Given the description of an element on the screen output the (x, y) to click on. 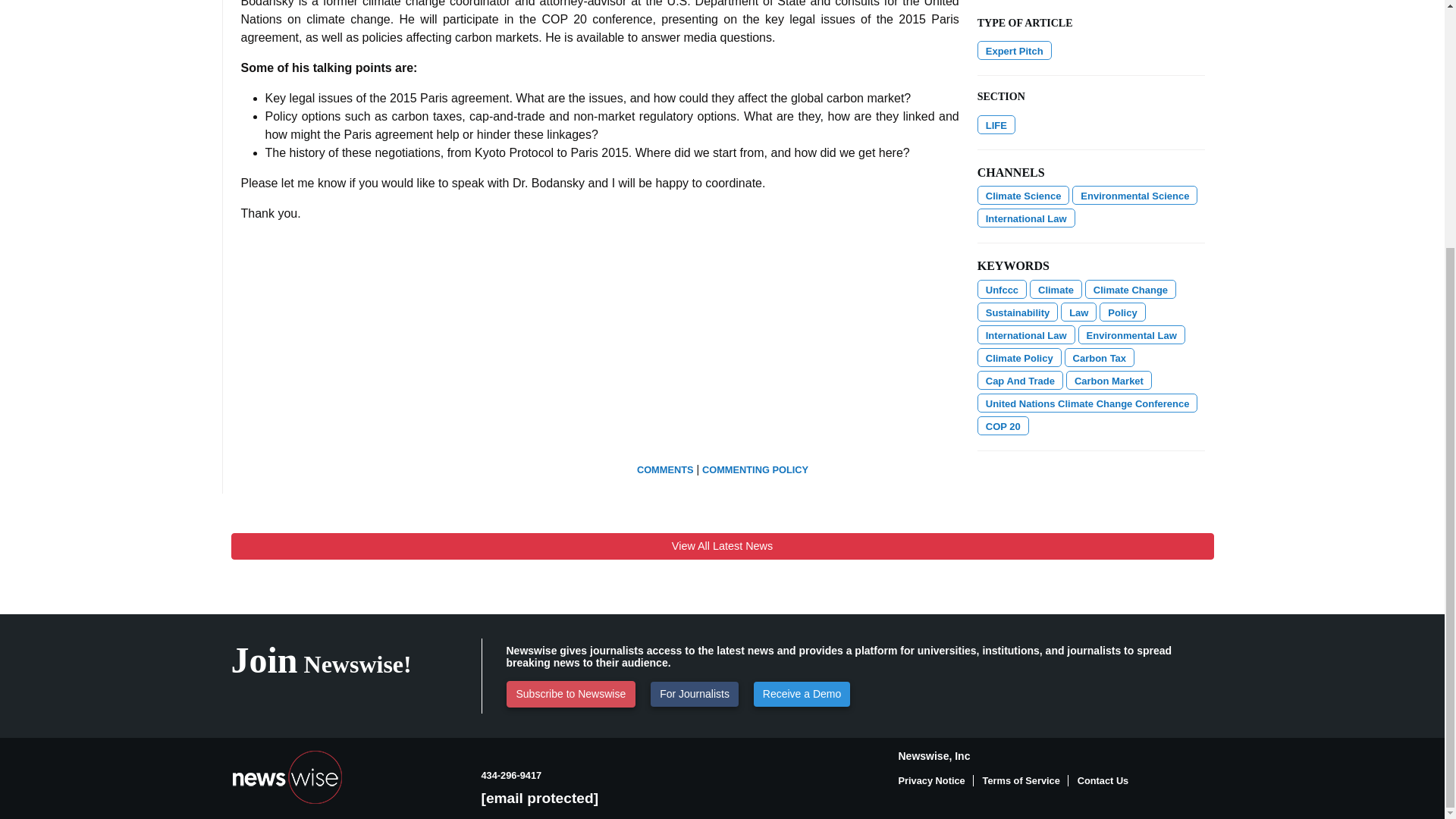
Show all articles in this channel (1025, 217)
Expert Pitch (1013, 49)
Show all articles in this channel (1023, 194)
Show all articles in this channel (995, 124)
Show all articles in this channel (1133, 194)
